Given the description of an element on the screen output the (x, y) to click on. 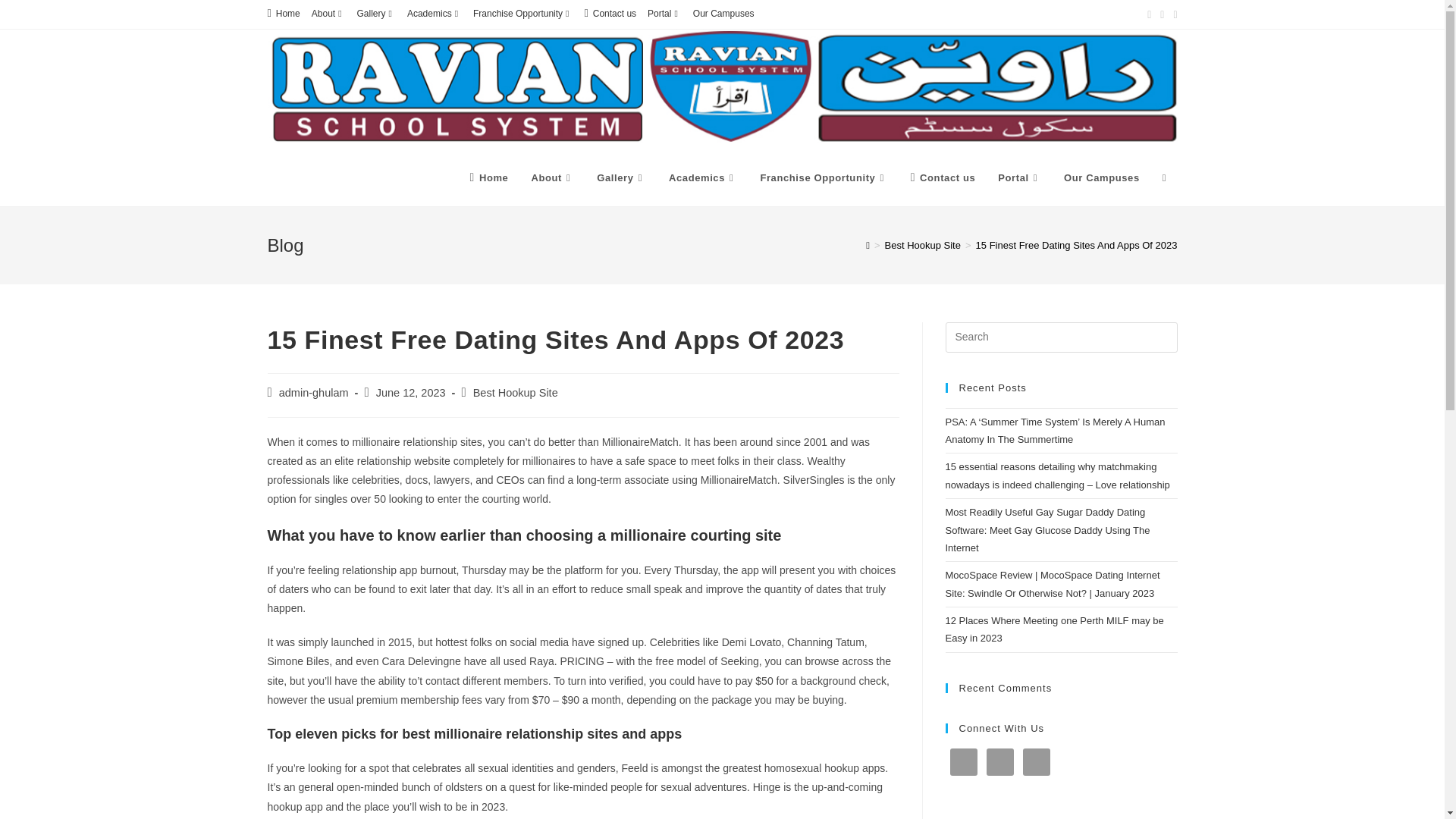
Contact us (609, 13)
Posts by admin-ghulam (314, 392)
Franchise Opportunity (522, 13)
About (552, 177)
Academics (434, 13)
Home (488, 177)
Gallery (376, 13)
About (328, 13)
Home (282, 13)
Our Campuses (723, 13)
